Given the description of an element on the screen output the (x, y) to click on. 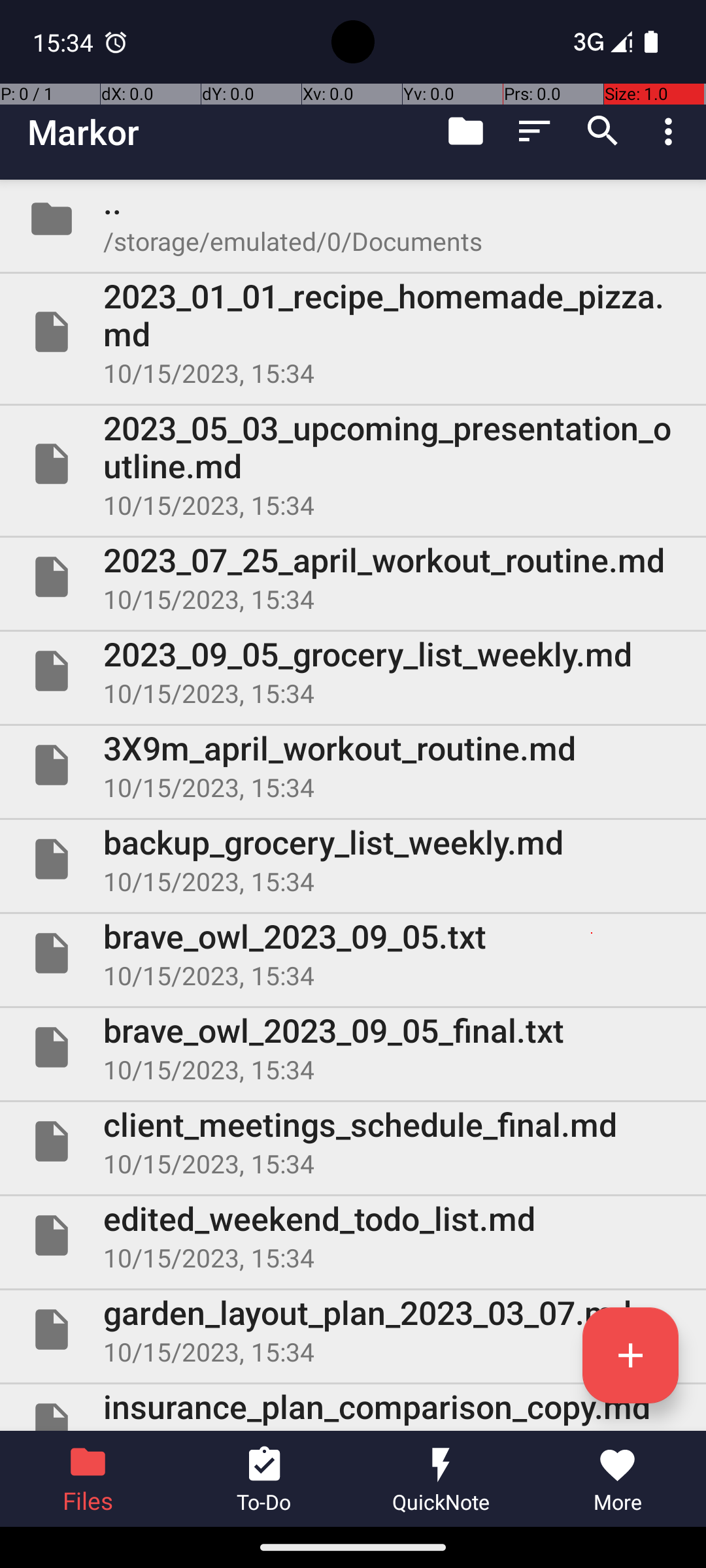
File 2023_01_01_recipe_homemade_pizza.md  Element type: android.widget.LinearLayout (353, 331)
File 2023_05_03_upcoming_presentation_outline.md  Element type: android.widget.LinearLayout (353, 463)
File 2023_07_25_april_workout_routine.md  Element type: android.widget.LinearLayout (353, 576)
File 2023_09_05_grocery_list_weekly.md  Element type: android.widget.LinearLayout (353, 670)
File 3X9m_april_workout_routine.md  Element type: android.widget.LinearLayout (353, 764)
File backup_grocery_list_weekly.md  Element type: android.widget.LinearLayout (353, 858)
File brave_owl_2023_09_05.txt 10/15/2023, 15:34 Element type: android.widget.LinearLayout (353, 953)
File brave_owl_2023_09_05_final.txt 10/15/2023, 15:34 Element type: android.widget.LinearLayout (353, 1047)
File client_meetings_schedule_final.md 10/15/2023, 15:34 Element type: android.widget.LinearLayout (353, 1141)
File edited_weekend_todo_list.md 10/15/2023, 15:34 Element type: android.widget.LinearLayout (353, 1235)
File garden_layout_plan_2023_03_07.md  Element type: android.widget.LinearLayout (353, 1329)
File insurance_plan_comparison_copy.md  Element type: android.widget.LinearLayout (353, 1407)
